Given the description of an element on the screen output the (x, y) to click on. 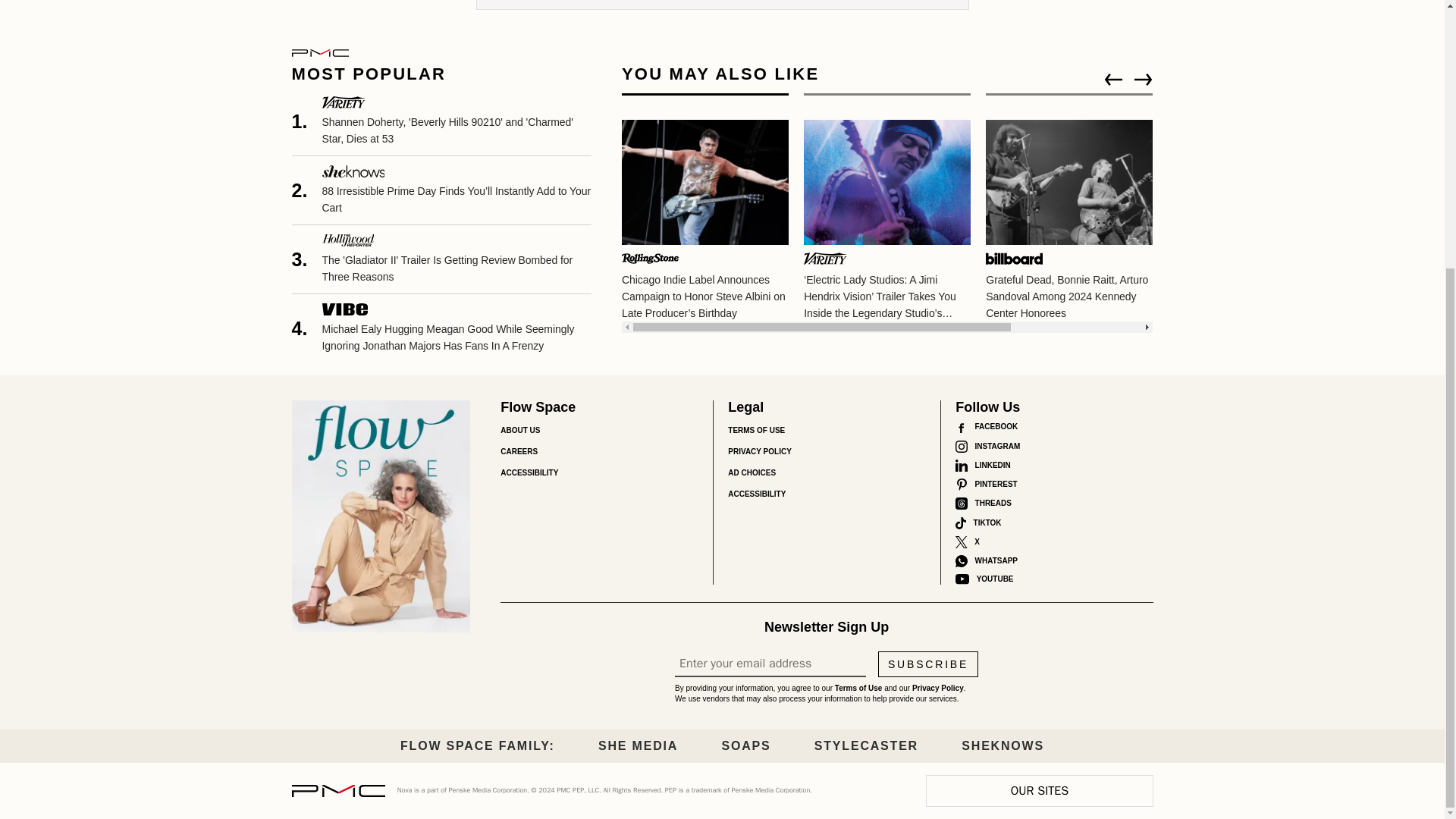
Submit (494, 4)
